Given the description of an element on the screen output the (x, y) to click on. 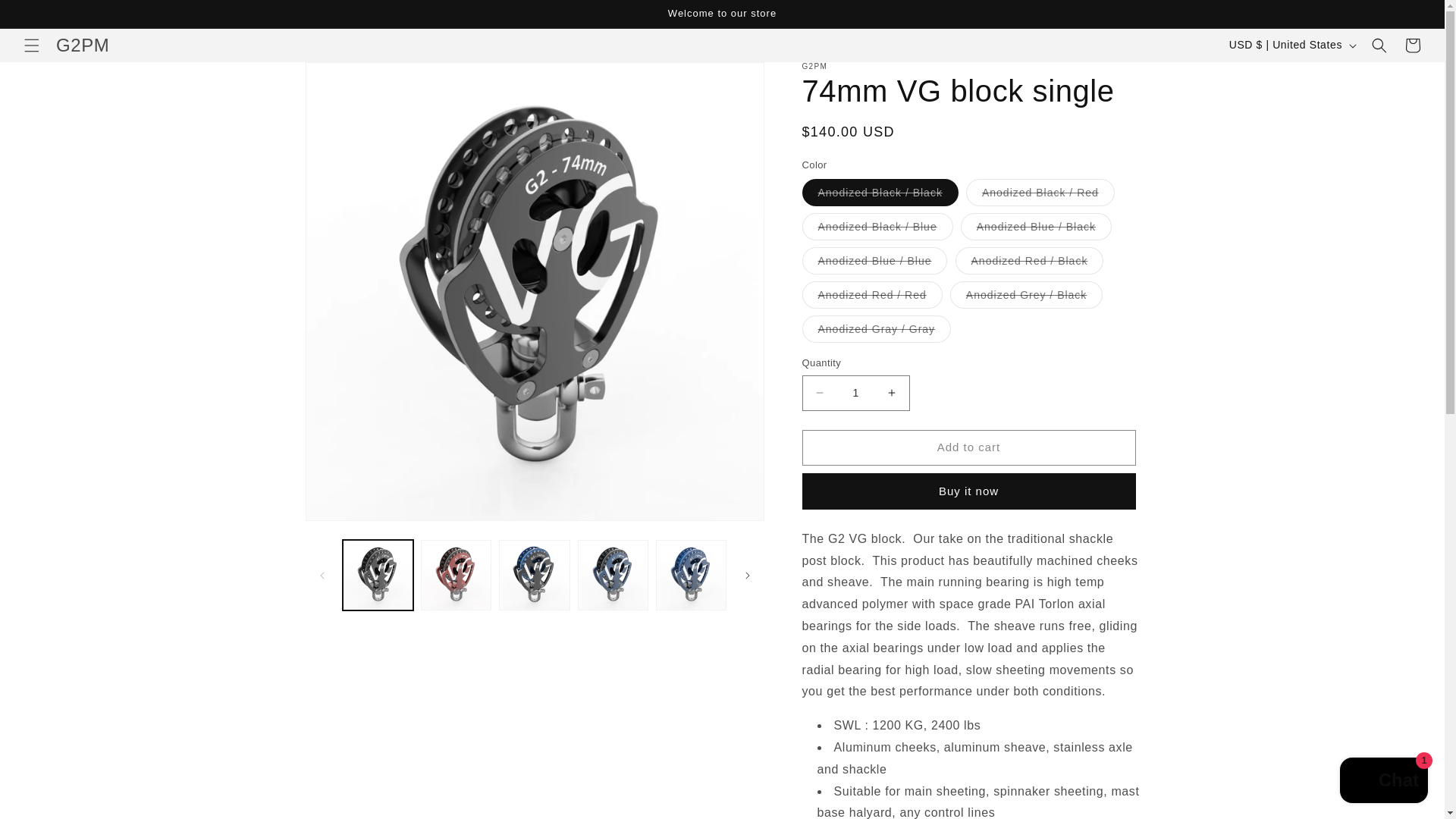
1 (856, 393)
Shopify online store chat (1383, 781)
Skip to content (45, 17)
Cart (1412, 45)
Skip to product information (350, 79)
G2PM (82, 44)
